Given the description of an element on the screen output the (x, y) to click on. 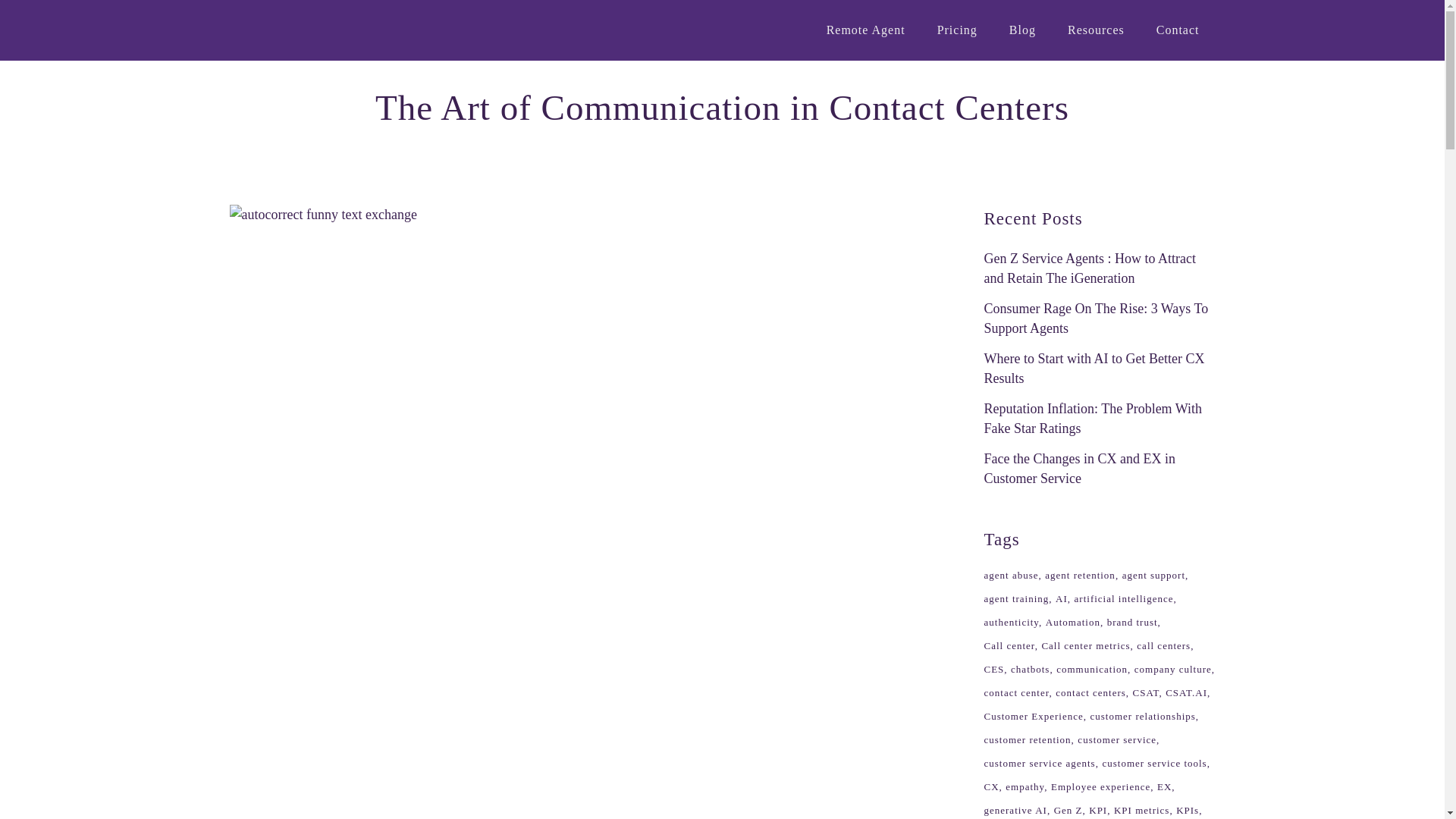
Pricing (956, 30)
Remote Agent (865, 30)
Blog (1021, 30)
Resources (1095, 30)
Contact (1177, 30)
